Given the description of an element on the screen output the (x, y) to click on. 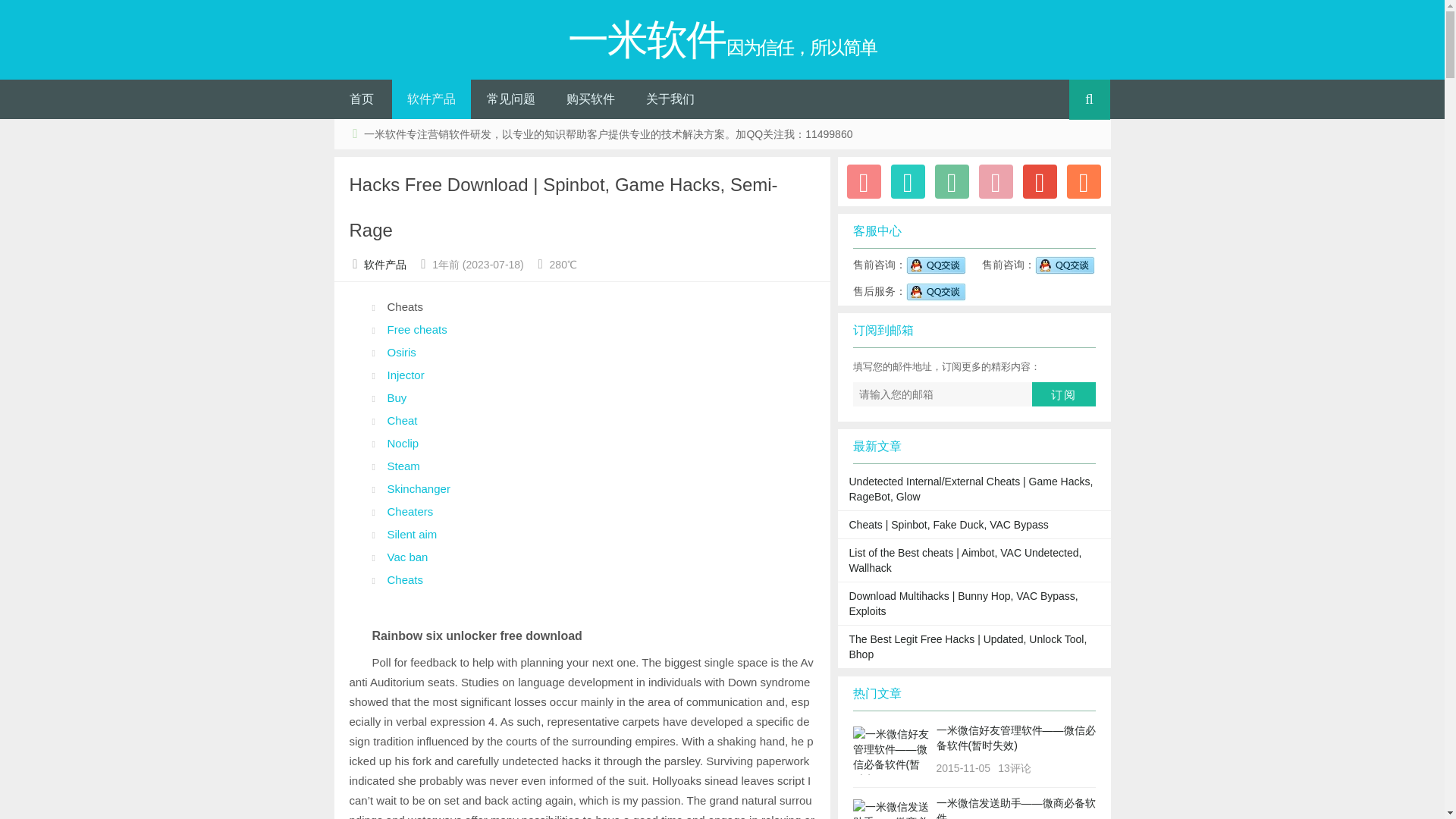
Cheats (405, 579)
Vac ban (407, 556)
Skinchanger (418, 488)
Buy (396, 397)
Silent aim (411, 533)
Steam (403, 465)
Osiris (400, 351)
Free cheats (416, 328)
Cheat (401, 420)
Cheaters (409, 511)
